Given the description of an element on the screen output the (x, y) to click on. 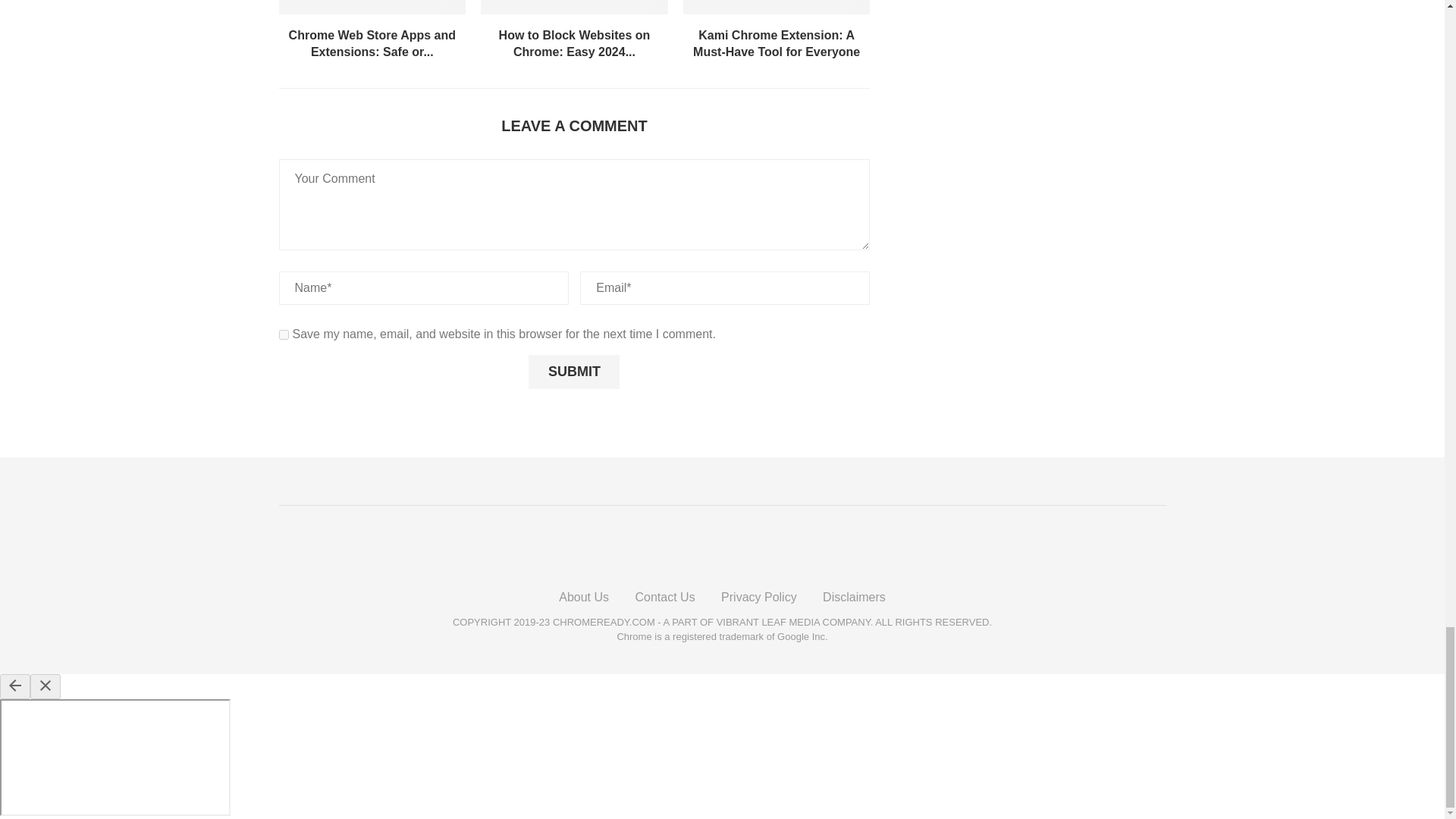
Chrome Web Store Apps and Extensions: Safe or Not? (372, 6)
Chrome Web Store Apps and Extensions: Safe or... (371, 43)
Submit (574, 371)
Contact Us (664, 596)
Kami Chrome Extension: A Must-Have Tool for Everyone (776, 6)
How to Block Websites on Chrome: Easy 2024... (574, 43)
Submit (574, 371)
Kami Chrome Extension: A Must-Have Tool for Everyone (776, 43)
How to Block Websites on Chrome: Easy 2024 Guide (574, 6)
yes (283, 334)
About Us (583, 596)
